Given the description of an element on the screen output the (x, y) to click on. 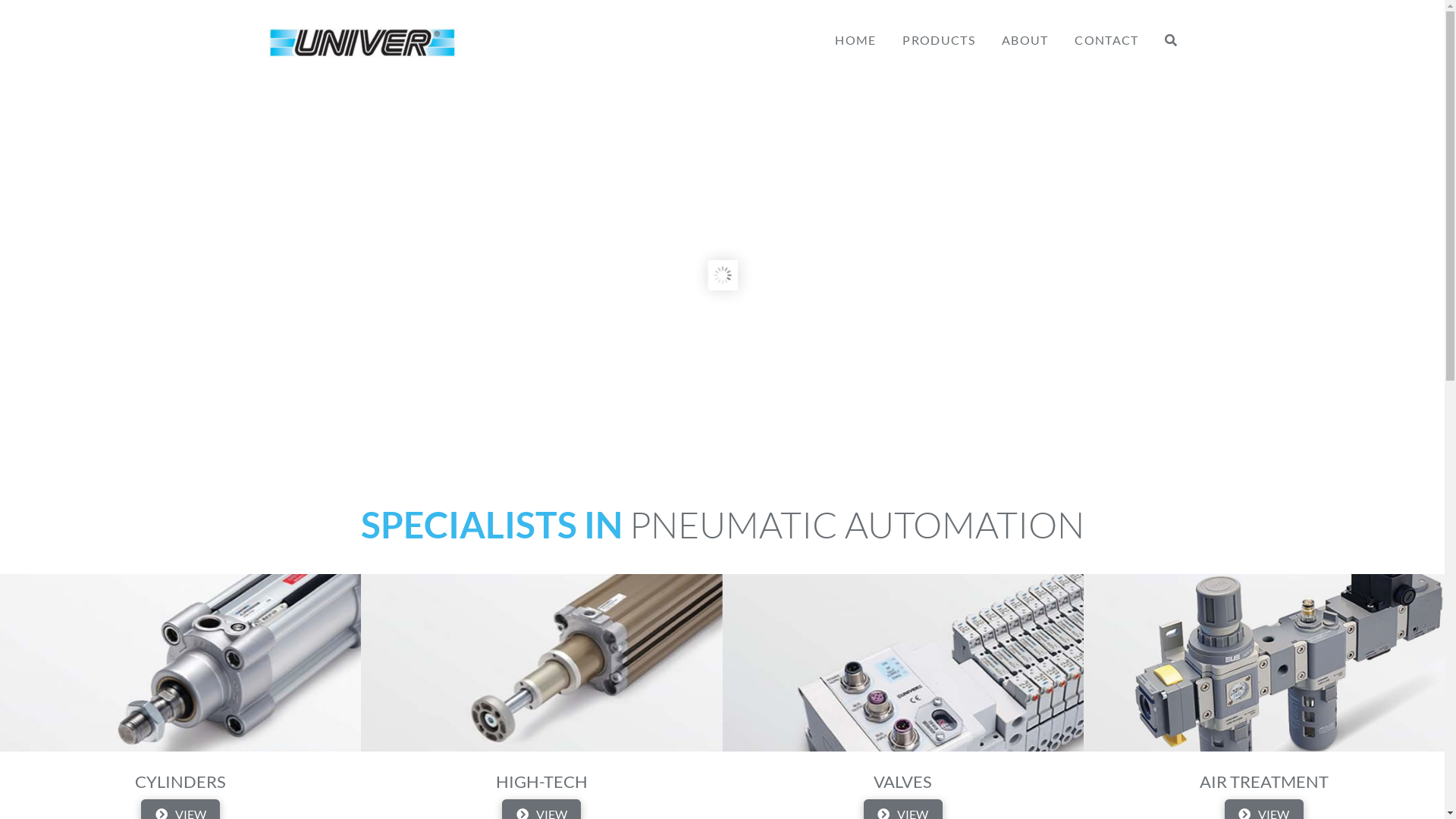
HOME Element type: text (854, 22)
ABOUT Element type: text (1024, 22)
PRODUCTS Element type: text (938, 22)
CONTACT Element type: text (1105, 22)
